Given the description of an element on the screen output the (x, y) to click on. 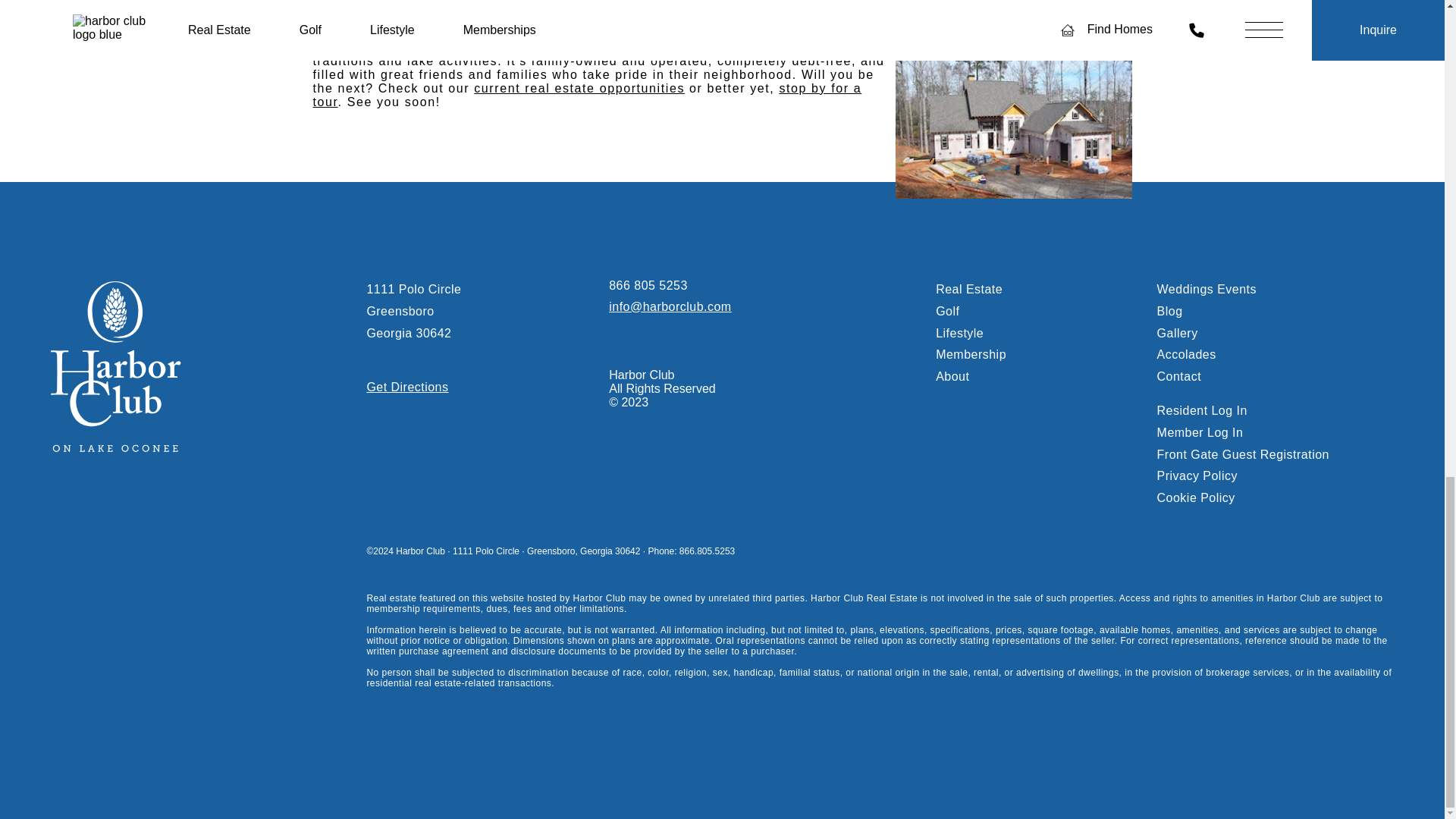
current real estate opportunities (579, 88)
About (952, 376)
866 805 5253 (647, 285)
Real Estate (969, 288)
Member Log In (1200, 431)
Membership (971, 354)
Resident Log In (1202, 410)
Cookie Policy (1195, 497)
Privacy Policy (1197, 475)
Get Directions (407, 386)
